Given the description of an element on the screen output the (x, y) to click on. 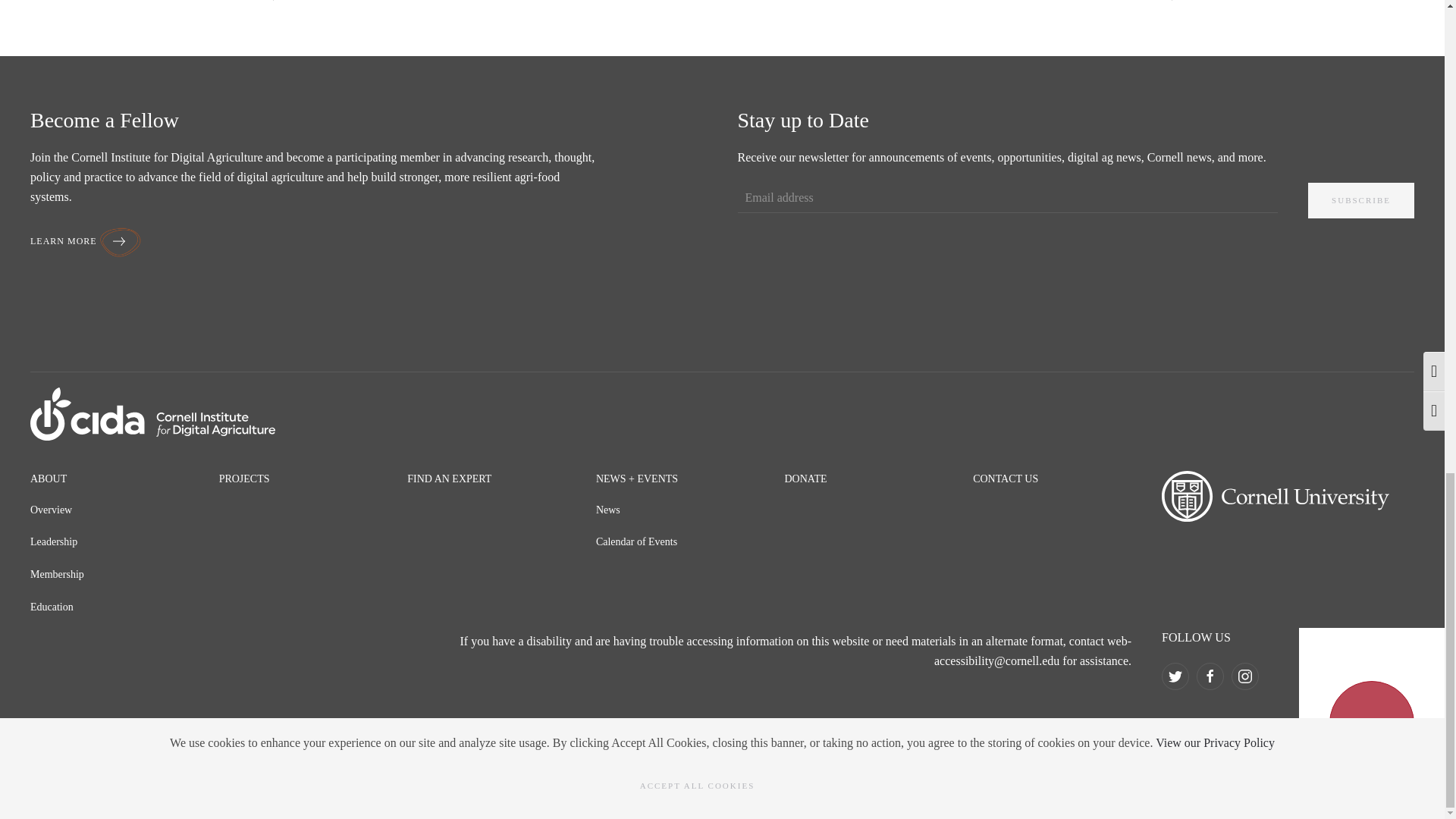
LEARN MORE (85, 240)
Membership (57, 573)
ABOUT (48, 478)
PREVIOUS (292, 2)
Overview (50, 509)
SUBSCRIBE (1360, 200)
NEXT (1160, 2)
Leadership (53, 541)
Education (52, 606)
